Given the description of an element on the screen output the (x, y) to click on. 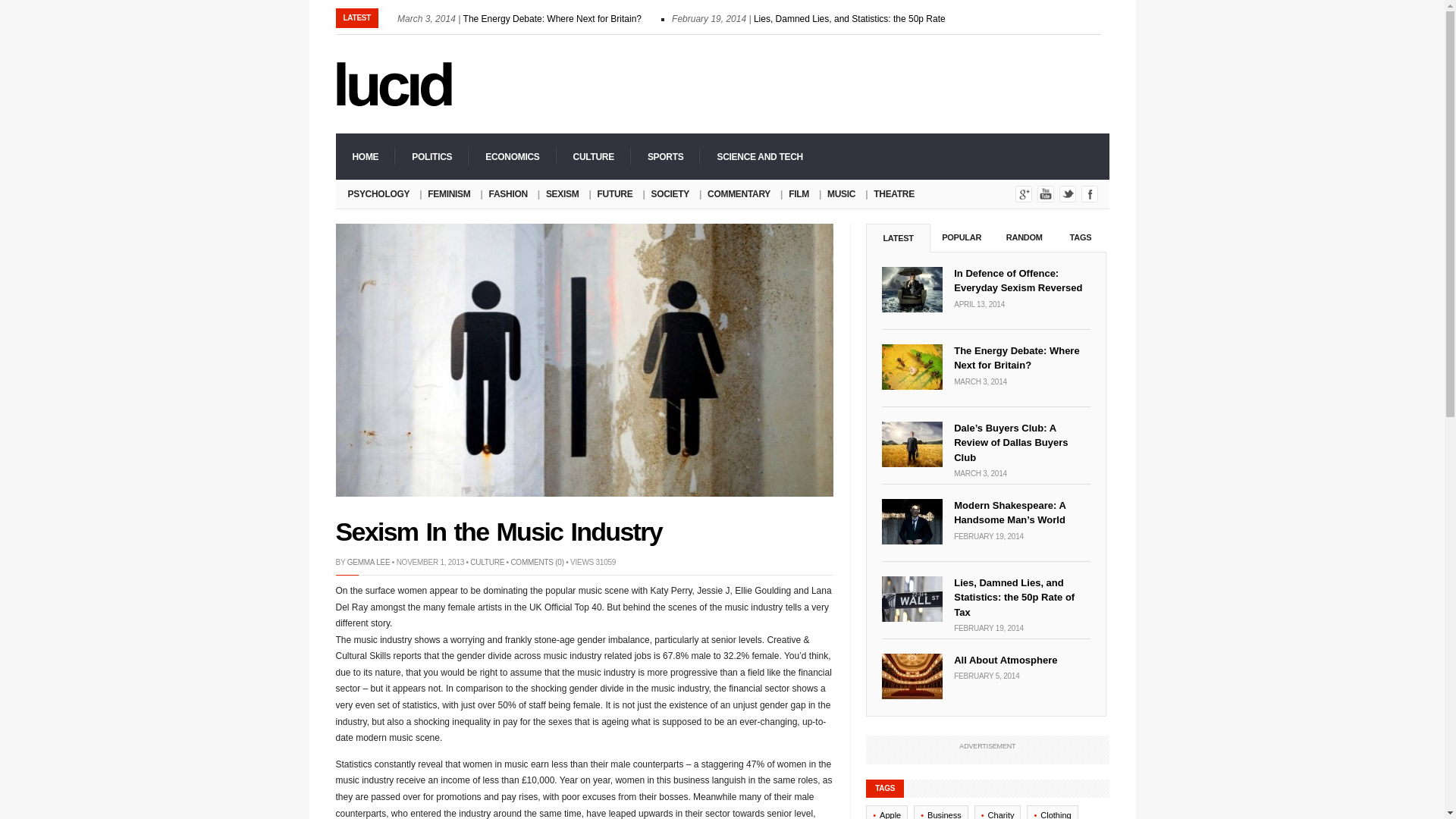
SOCIETY (670, 193)
You Tube (1044, 193)
COMMENTARY (739, 193)
HOME (364, 156)
SEXISM (563, 193)
FEMINISM (449, 193)
CULTURE (593, 156)
FUTURE (615, 193)
FILM (799, 193)
The Energy Debate: Where Next for Britain? (552, 18)
Lies, Damned Lies, and Statistics: the 50p Rate of Tax (863, 18)
Posts by Gemma Lee (368, 561)
Twitter (1067, 193)
PSYCHOLOGY (376, 193)
POLITICS (431, 156)
